Given the description of an element on the screen output the (x, y) to click on. 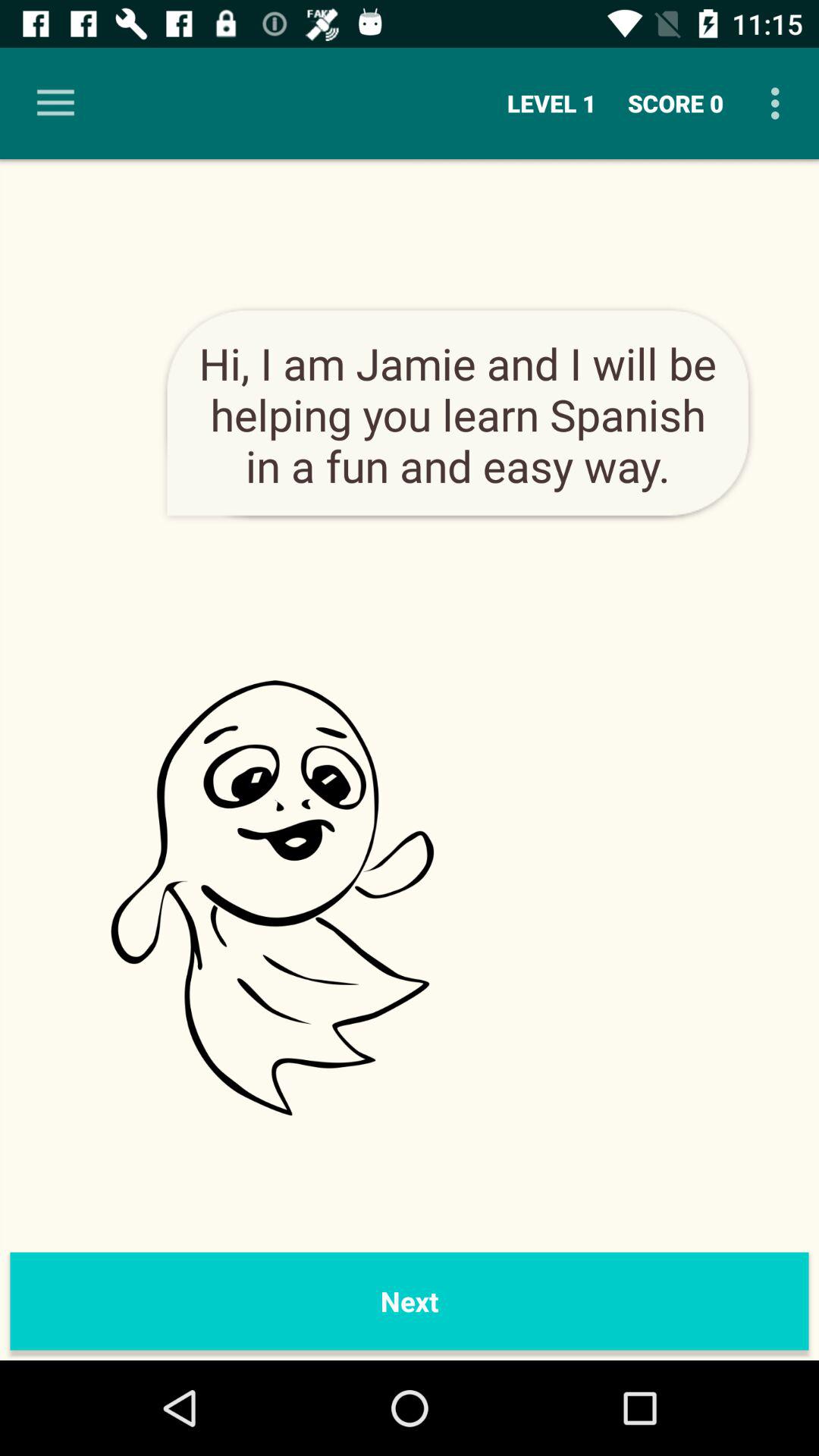
click the item to the left of level 1 icon (55, 103)
